Given the description of an element on the screen output the (x, y) to click on. 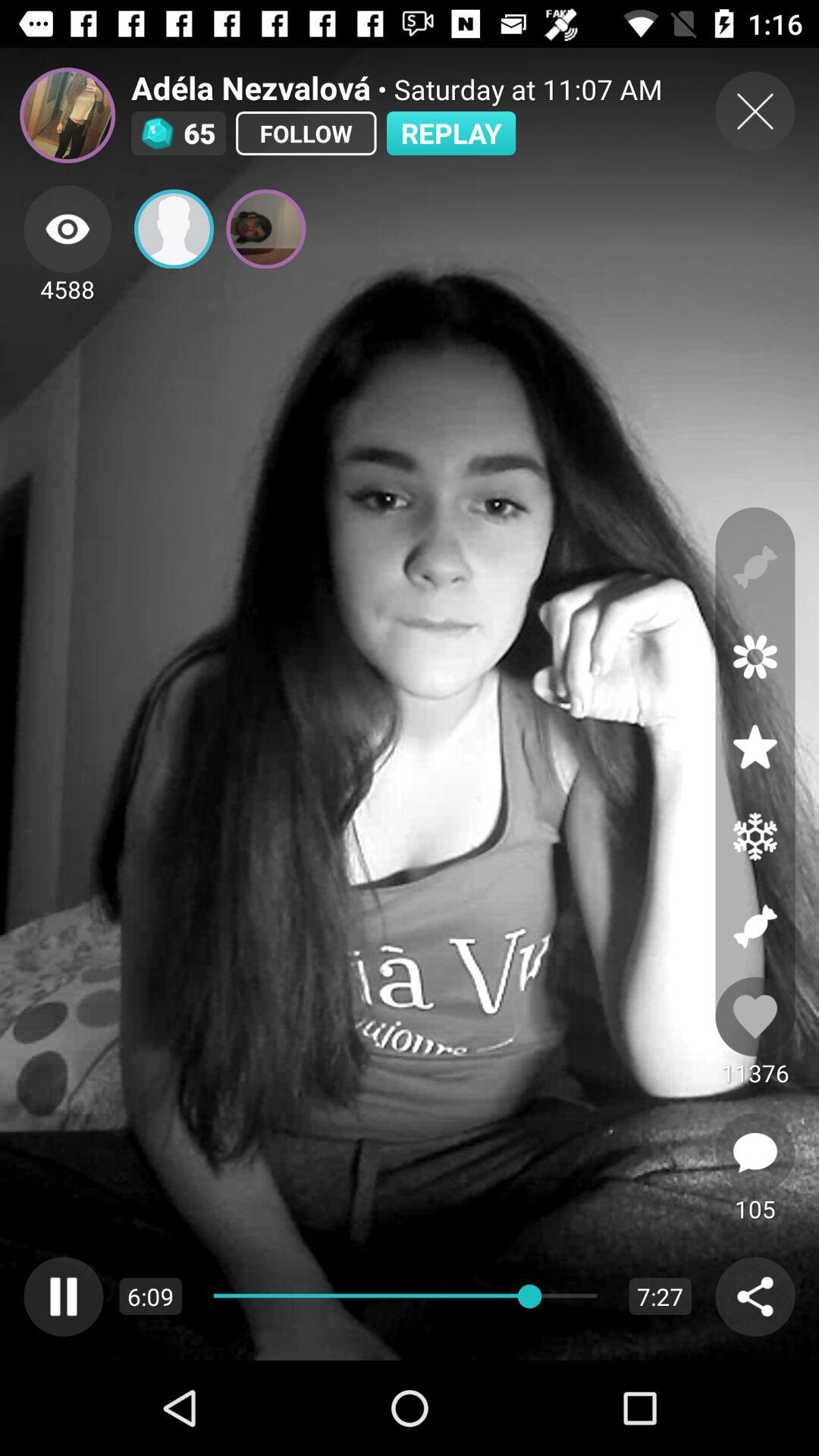
like the video (755, 1016)
